Given the description of an element on the screen output the (x, y) to click on. 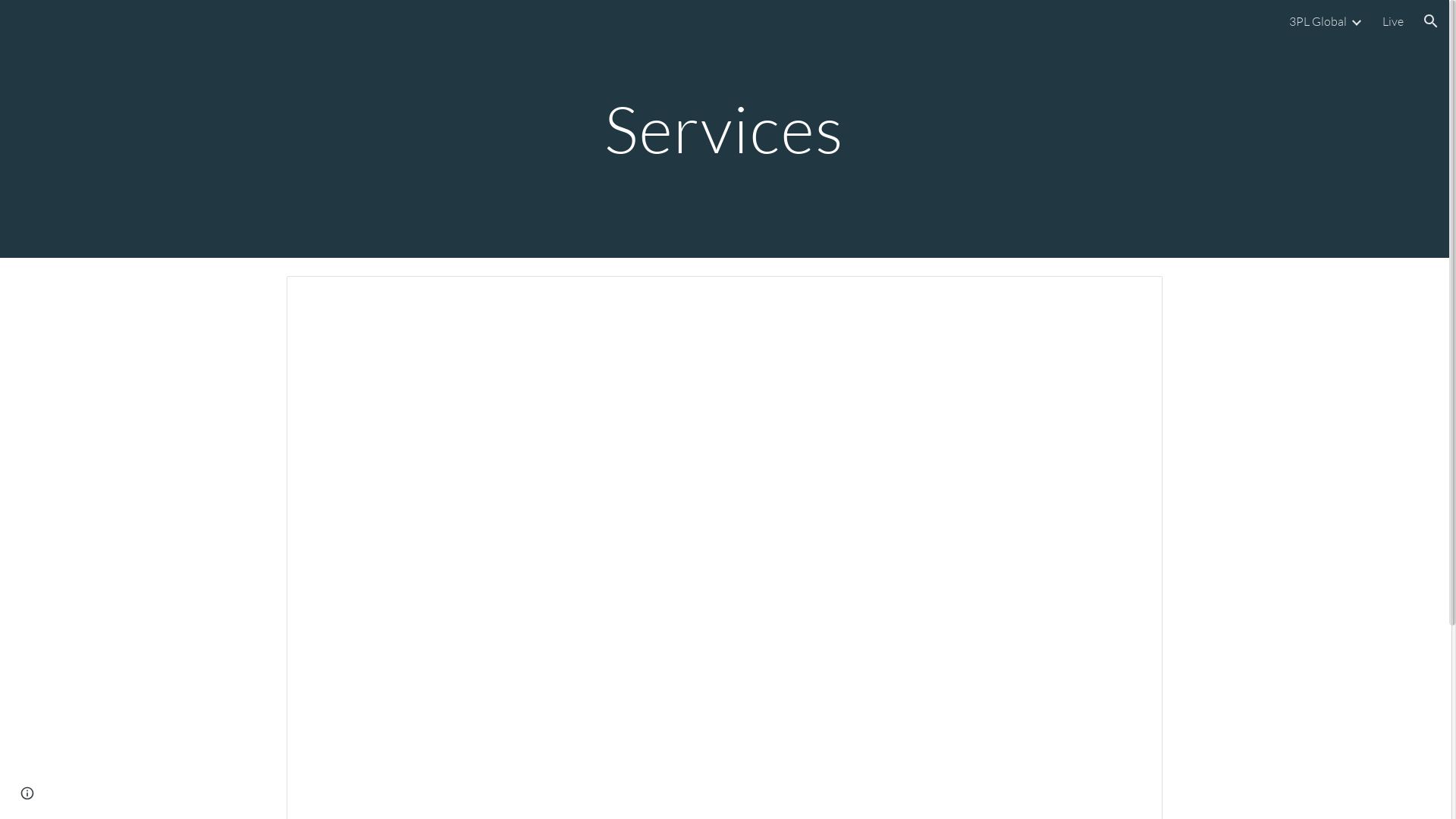
Expand/Collapse Element type: hover (1355, 20)
3PL Global Element type: text (1317, 20)
Live Element type: text (1392, 20)
